Given the description of an element on the screen output the (x, y) to click on. 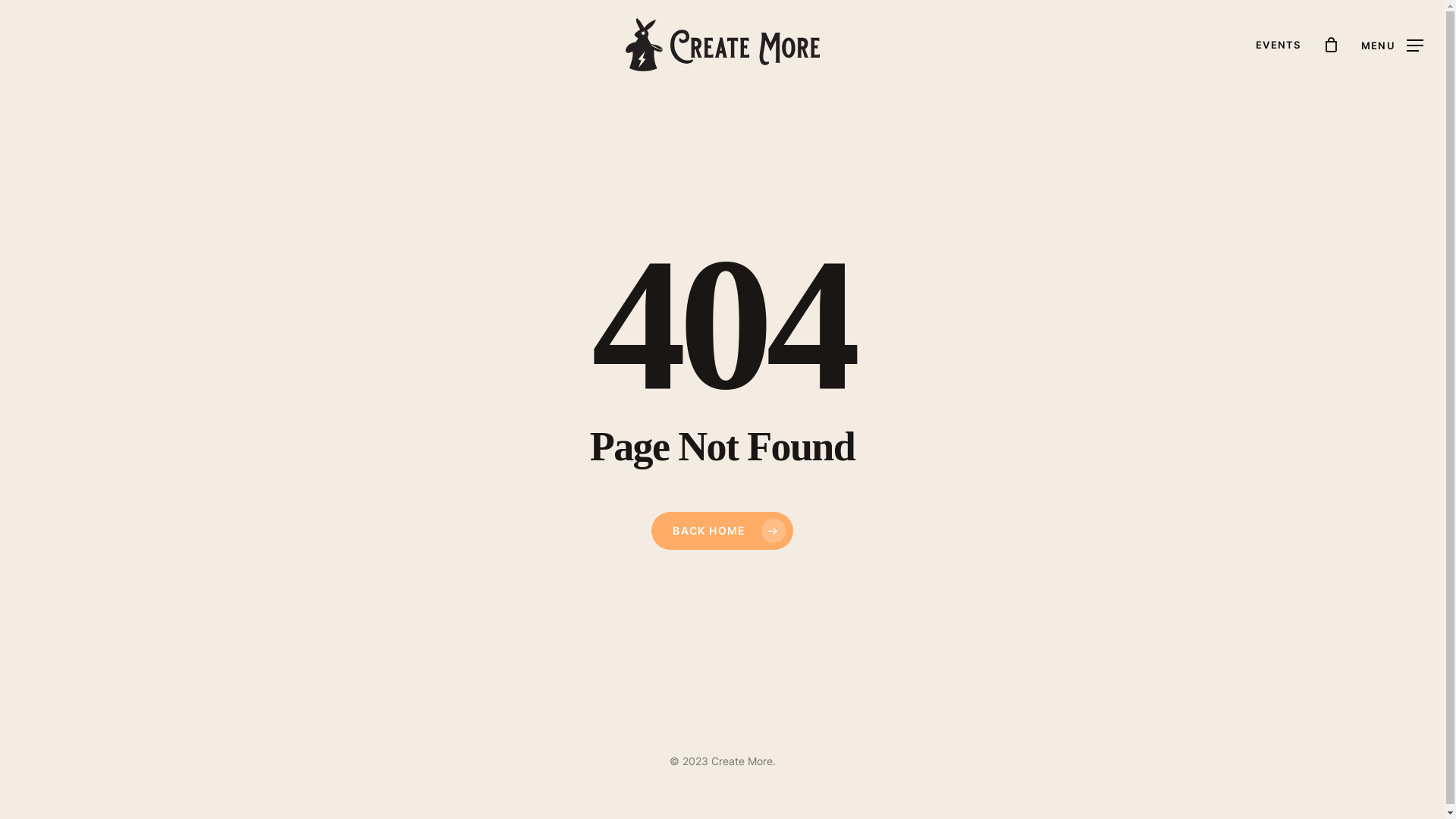
EVENTS Element type: text (1278, 44)
MENU Element type: text (1392, 44)
BACK HOME Element type: text (722, 530)
